Given the description of an element on the screen output the (x, y) to click on. 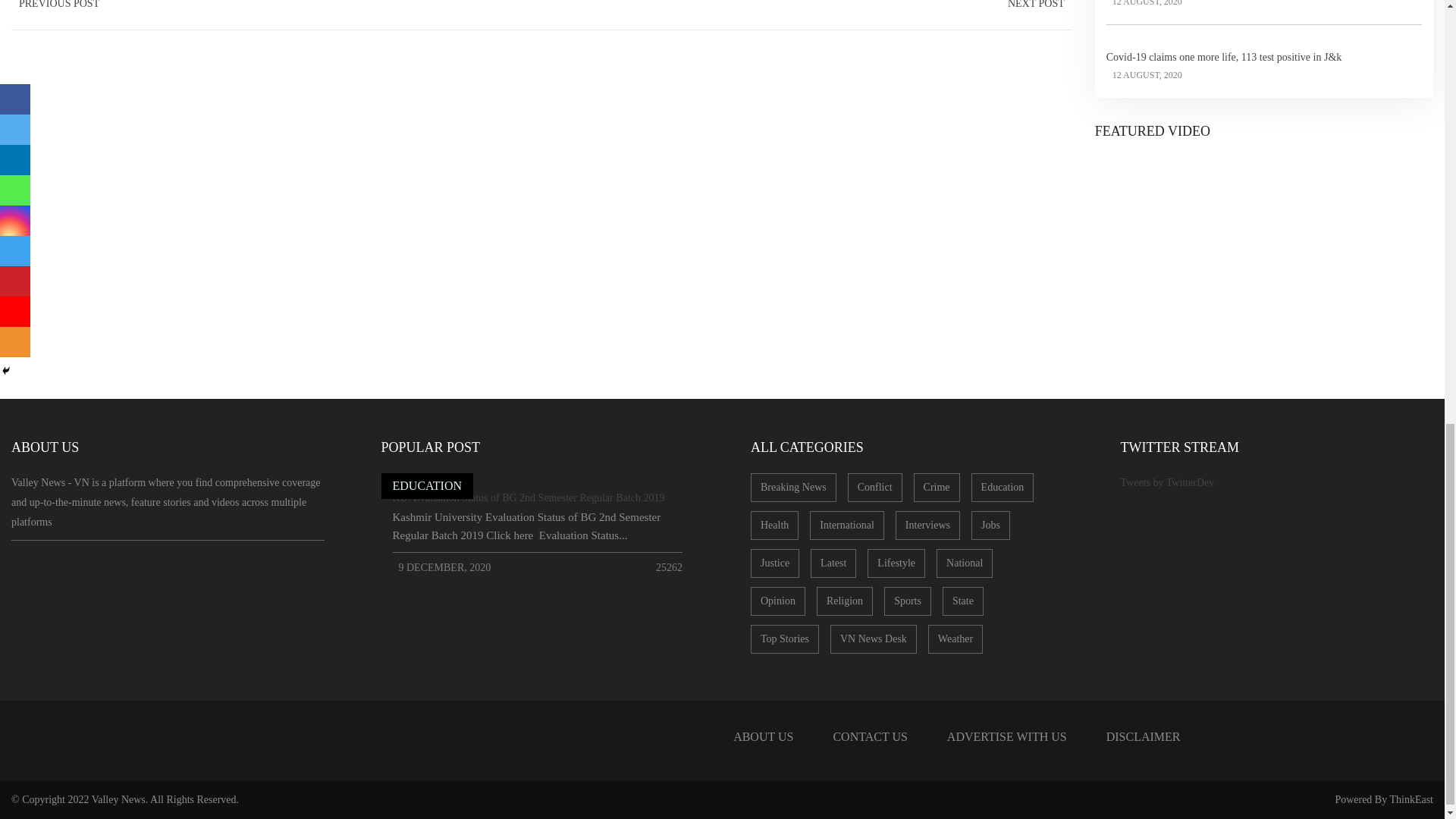
Breaking News (793, 487)
International (846, 525)
Religion (844, 601)
ADVERTISE WITH US (1006, 736)
Jobs (990, 525)
National (964, 563)
CONTACT US (869, 736)
Education (1002, 487)
NEXT POST (1035, 7)
VN News Desk (873, 638)
